Given the description of an element on the screen output the (x, y) to click on. 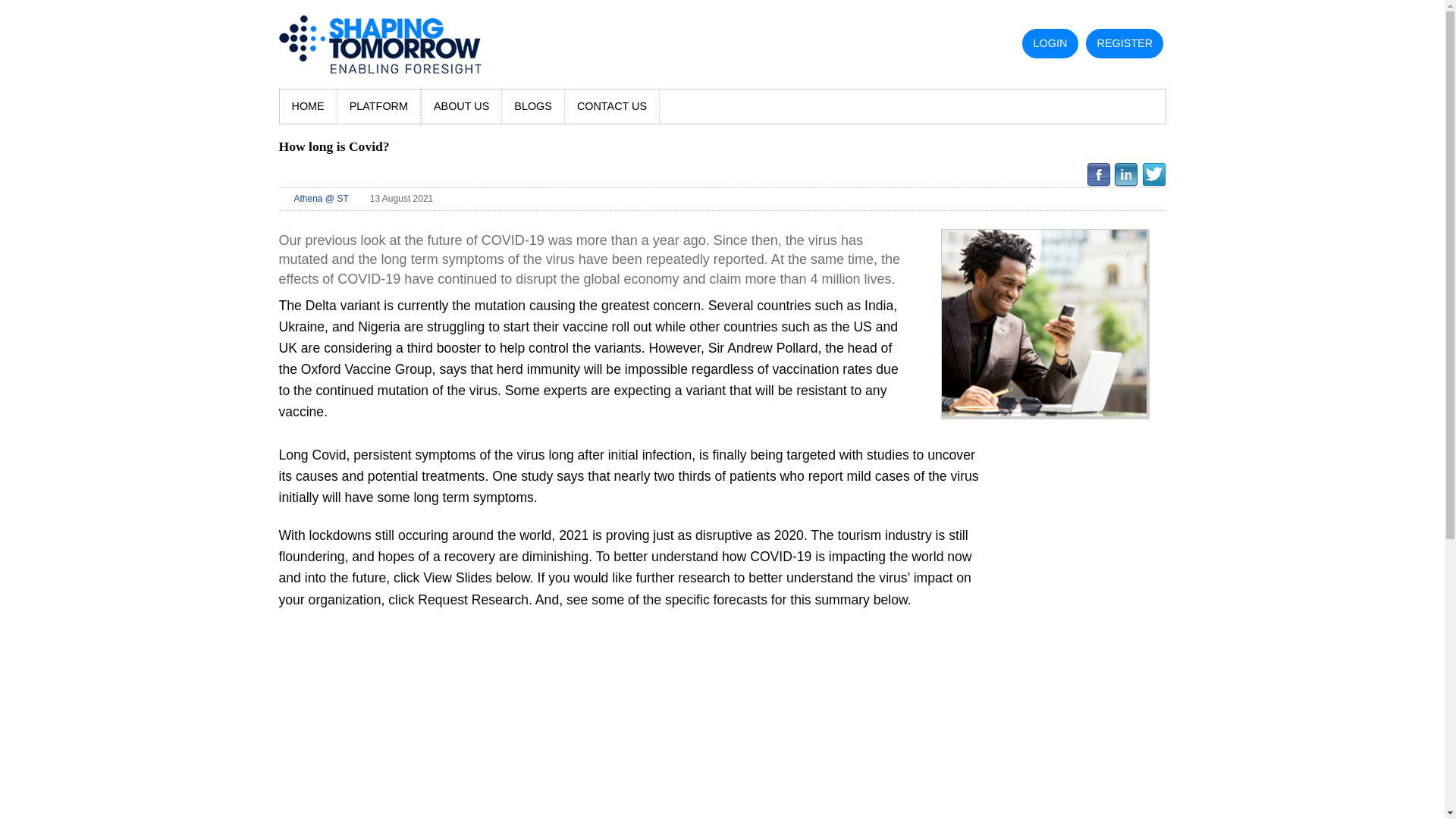
PLATFORM (378, 106)
view contributor's profile (321, 198)
view contributor's profile (314, 199)
REGISTER (1124, 43)
Share on Linkedin (1125, 174)
ABOUT US (462, 106)
BLOGS (533, 106)
Share on Facebook (1098, 174)
Share on Twitter (1153, 174)
HOME (307, 106)
